Given the description of an element on the screen output the (x, y) to click on. 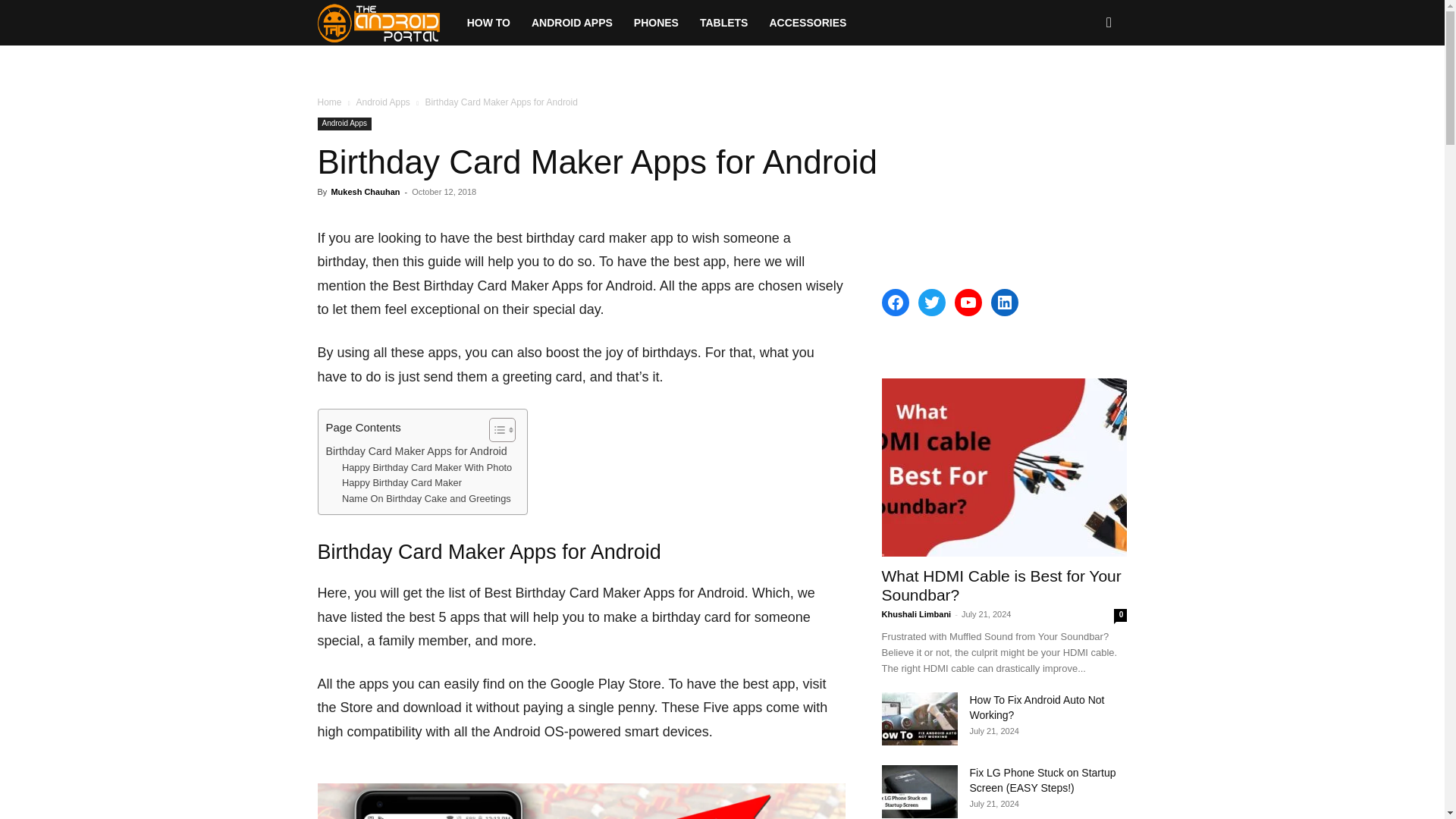
Birthday Card Maker Apps for Android 1 (580, 800)
Name On Birthday Cake and Greetings (426, 498)
ANDROID APPS (572, 22)
TABLETS (723, 22)
Happy Birthday Card Maker With Photo (427, 467)
ACCESSORIES (807, 22)
HOW TO (489, 22)
View all posts in Android Apps (382, 102)
Theandroidportal Logo (379, 22)
PHONES (655, 22)
